Given the description of an element on the screen output the (x, y) to click on. 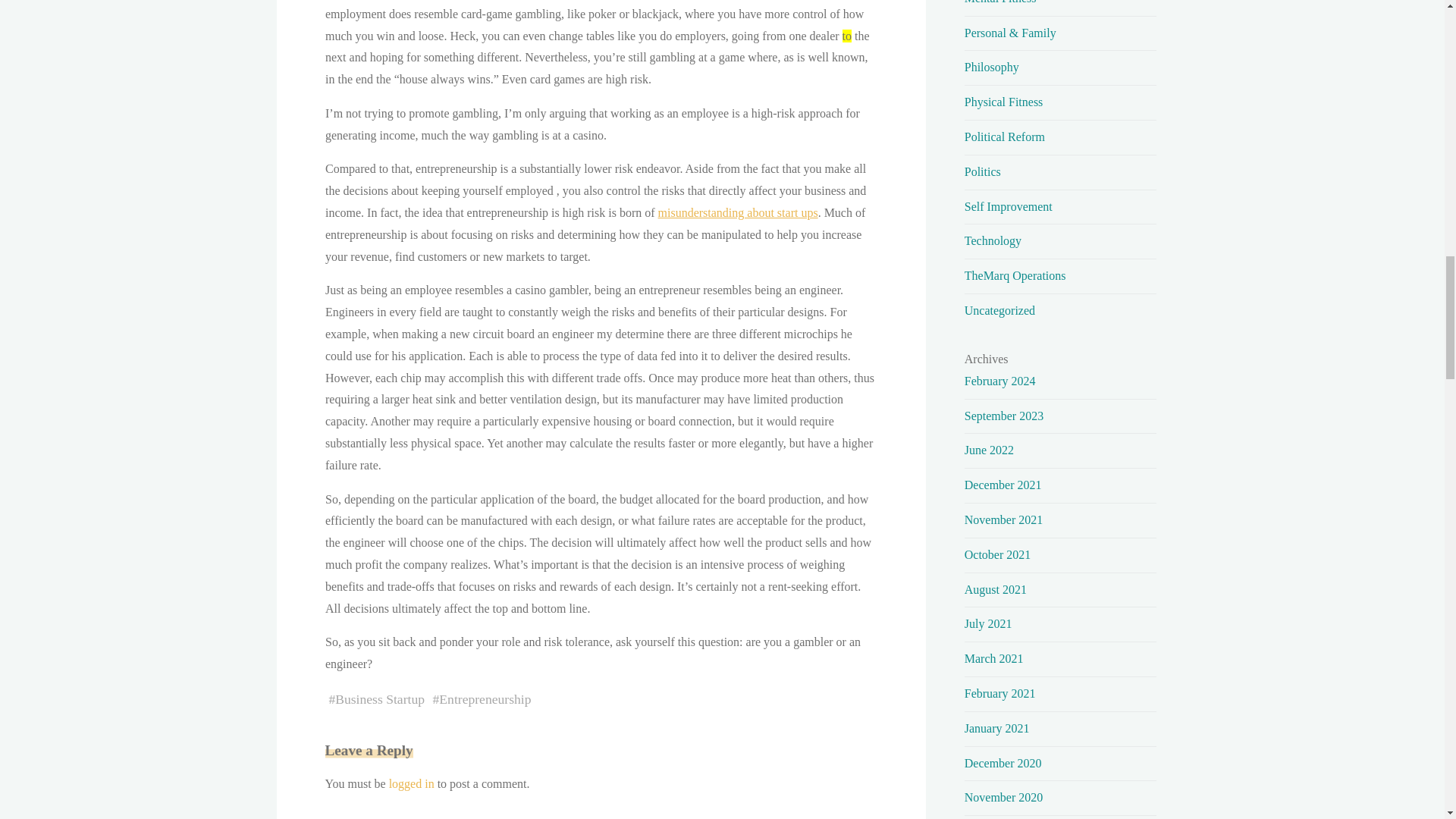
misunderstanding about start ups (737, 212)
Business Startup (379, 698)
Entrepreneurship (485, 698)
Mental Fitness (999, 2)
logged in (410, 783)
